Given the description of an element on the screen output the (x, y) to click on. 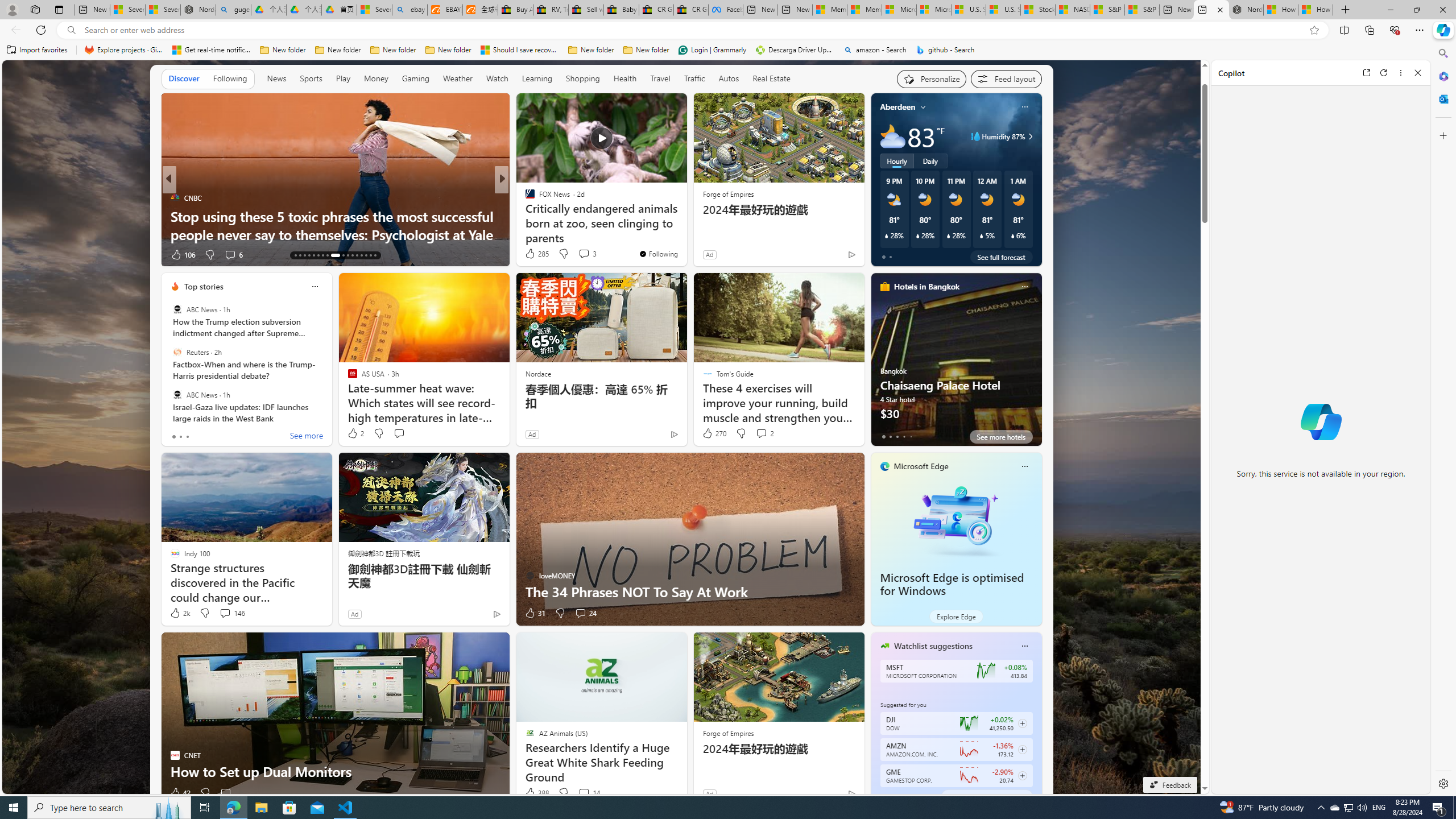
Import favorites (36, 49)
Hotels in Bangkok (926, 286)
Weather (457, 78)
tab-0 (882, 795)
Health (624, 78)
Outlook (1442, 98)
AutomationID: tab-41 (370, 255)
Play (342, 78)
285 Like (536, 253)
Microsoft Edge is optimised for Windows (955, 519)
AutomationID: tab-14 (299, 255)
